Given the description of an element on the screen output the (x, y) to click on. 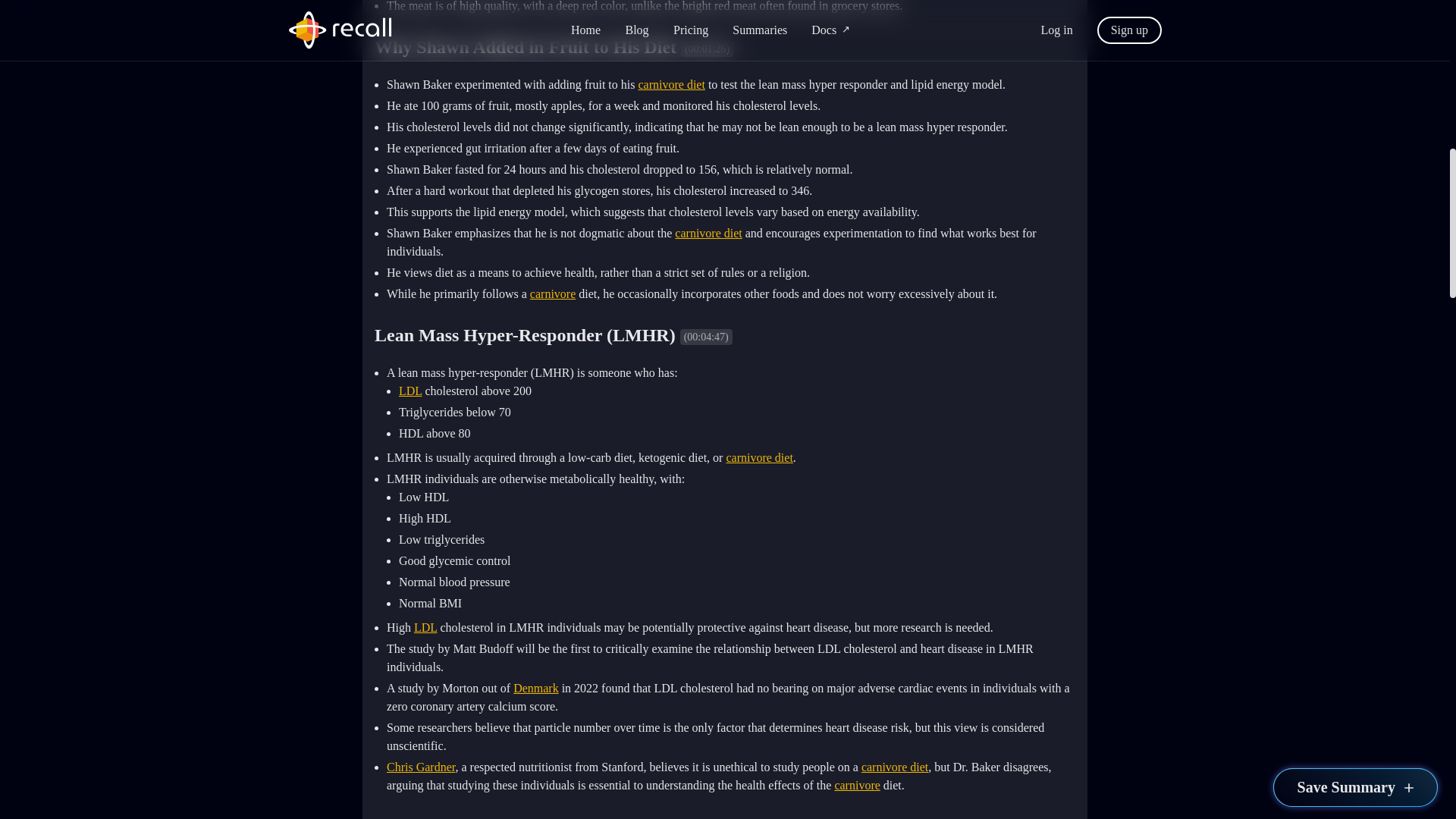
carnivore (552, 293)
Denmark (536, 687)
carnivore (856, 784)
carnivore diet (708, 232)
carnivore diet (758, 457)
LDL (425, 626)
carnivore diet (894, 766)
LDL (410, 390)
carnivore diet (670, 83)
Chris Gardner (420, 766)
